Given the description of an element on the screen output the (x, y) to click on. 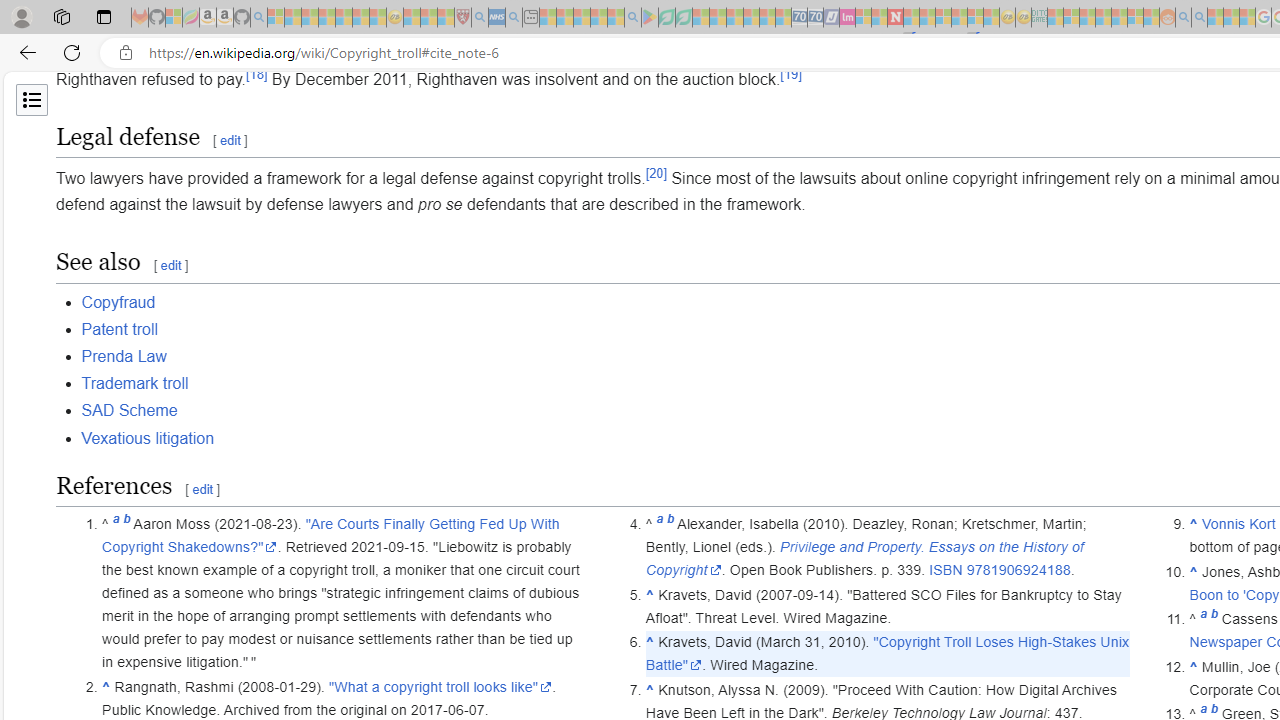
Patent troll (119, 328)
edit (202, 489)
[19] (790, 74)
SAD Scheme (128, 410)
Trademark troll (134, 384)
